Given the description of an element on the screen output the (x, y) to click on. 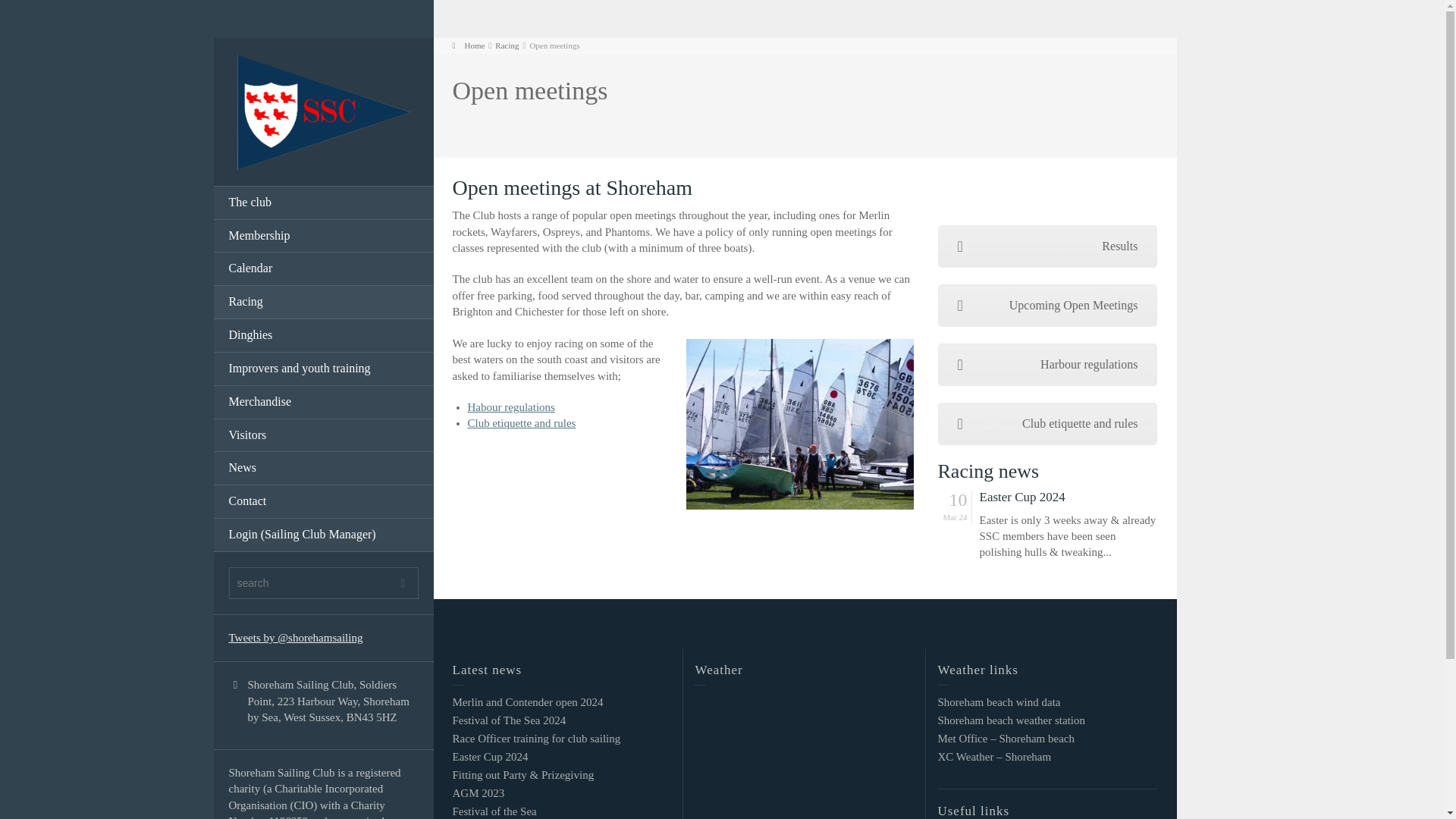
Results (1047, 246)
Easter Cup 2024 (1068, 497)
Upcoming Open Meetings (1047, 305)
Contact (323, 501)
Home (467, 44)
Club etiquette and rules (1047, 423)
Membership (323, 236)
National 12s (682, 232)
Racing (323, 302)
Merchandise (323, 402)
Visitors (323, 435)
Habour regulations (510, 407)
Dinghies (323, 335)
The club (323, 203)
Harbour regulations (1047, 364)
